Given the description of an element on the screen output the (x, y) to click on. 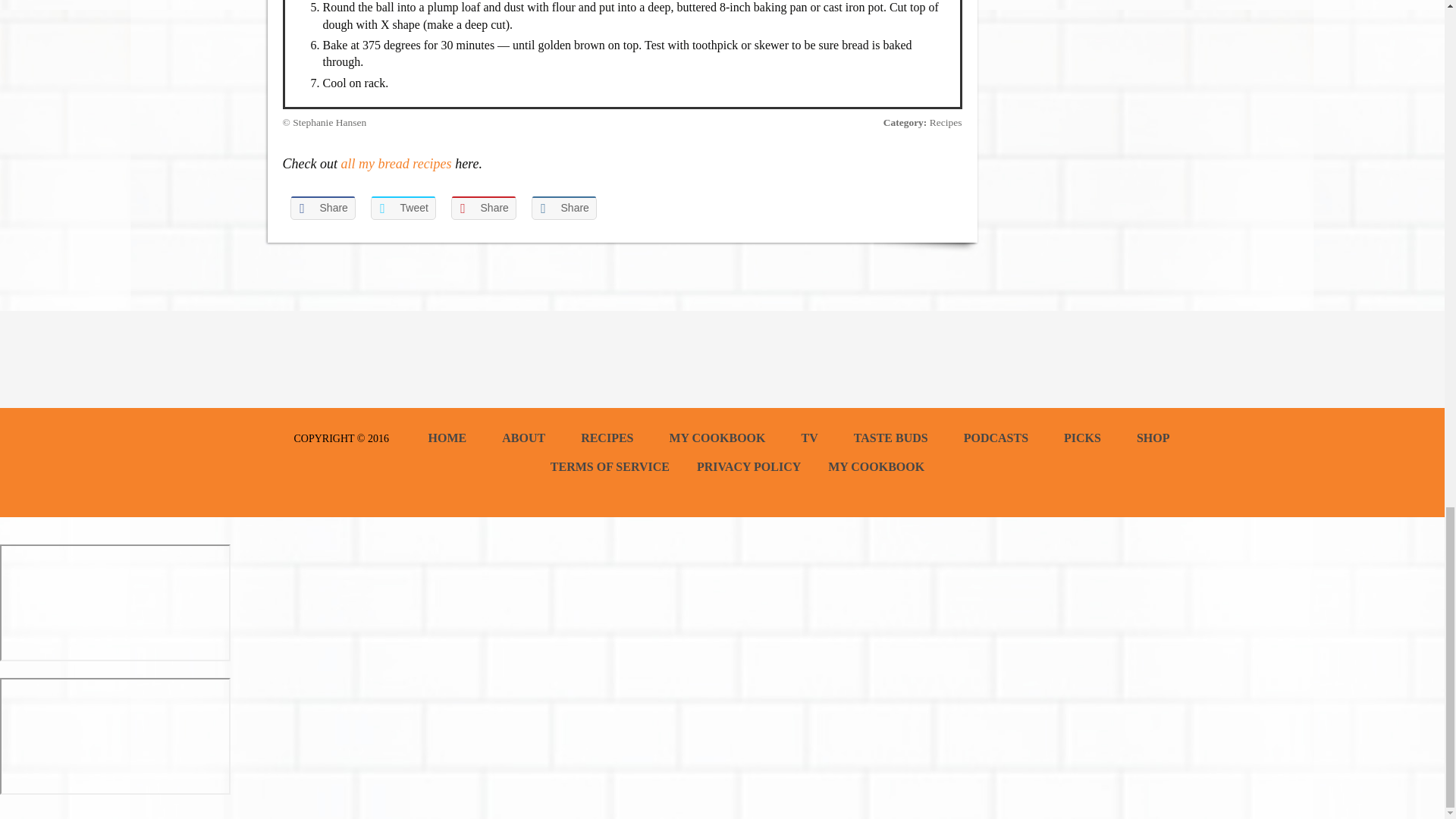
Share on Pinterest (482, 207)
Share (563, 207)
Share (322, 207)
Share on Facebook (322, 207)
Share on LinkedIn (563, 207)
Tweet (402, 207)
ABOUT (523, 437)
Share on Twitter (402, 207)
all my bread recipes (395, 163)
Share (482, 207)
HOME (447, 437)
